Given the description of an element on the screen output the (x, y) to click on. 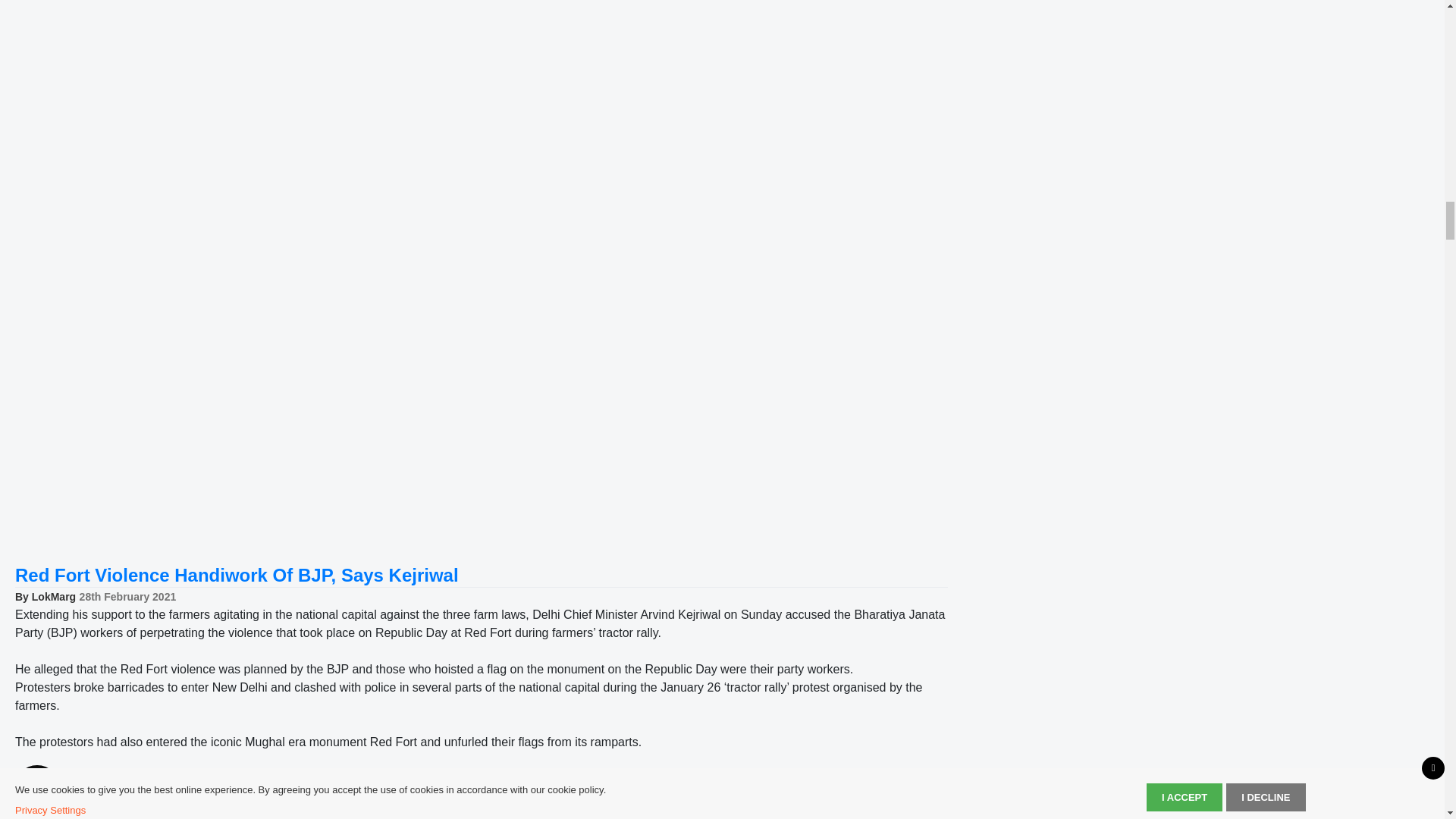
LokMarg (53, 596)
Red Fort Violence Handiwork Of BJP, Says Kejriwal (236, 575)
